Given the description of an element on the screen output the (x, y) to click on. 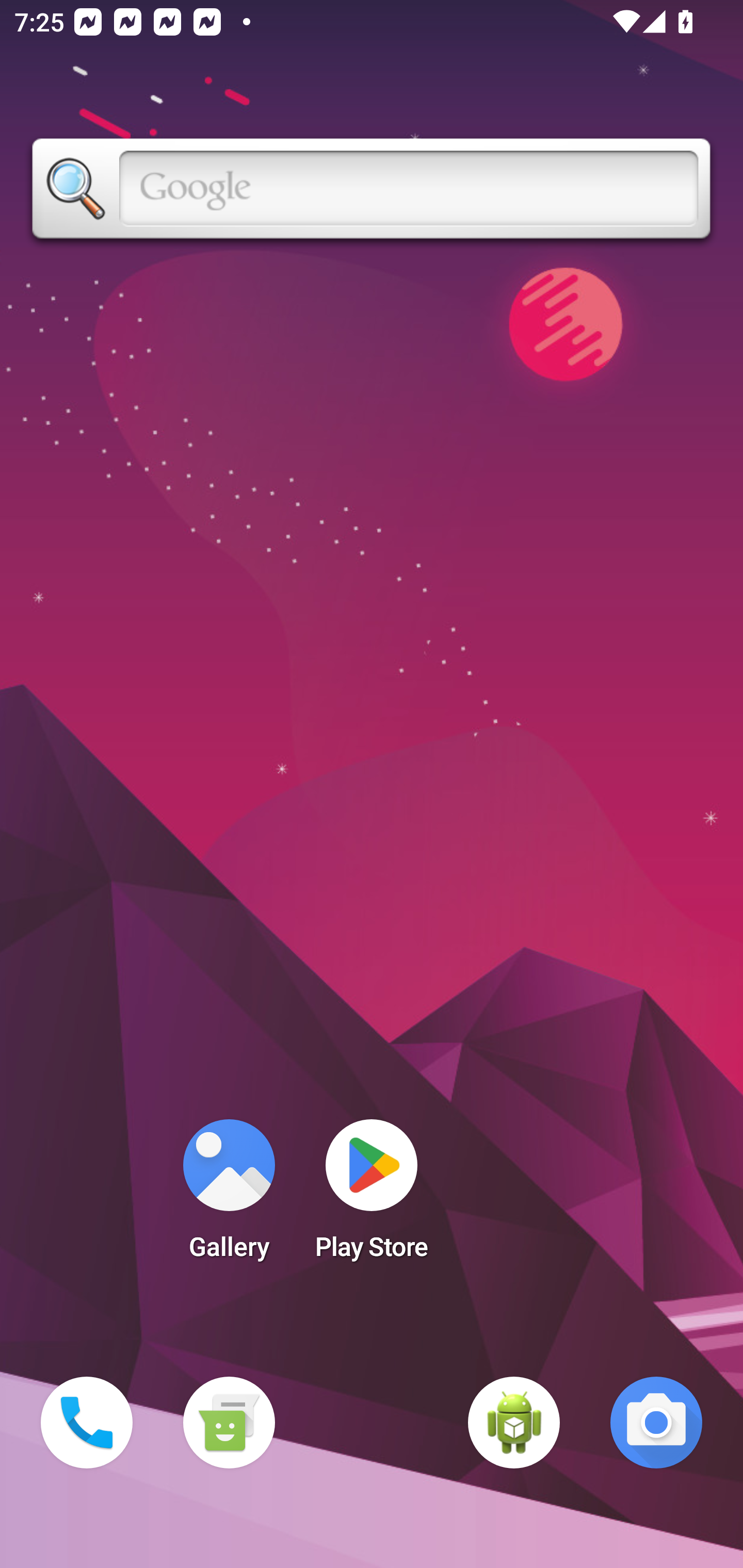
Gallery (228, 1195)
Play Store (371, 1195)
Phone (86, 1422)
Messaging (228, 1422)
WebView Browser Tester (513, 1422)
Camera (656, 1422)
